Given the description of an element on the screen output the (x, y) to click on. 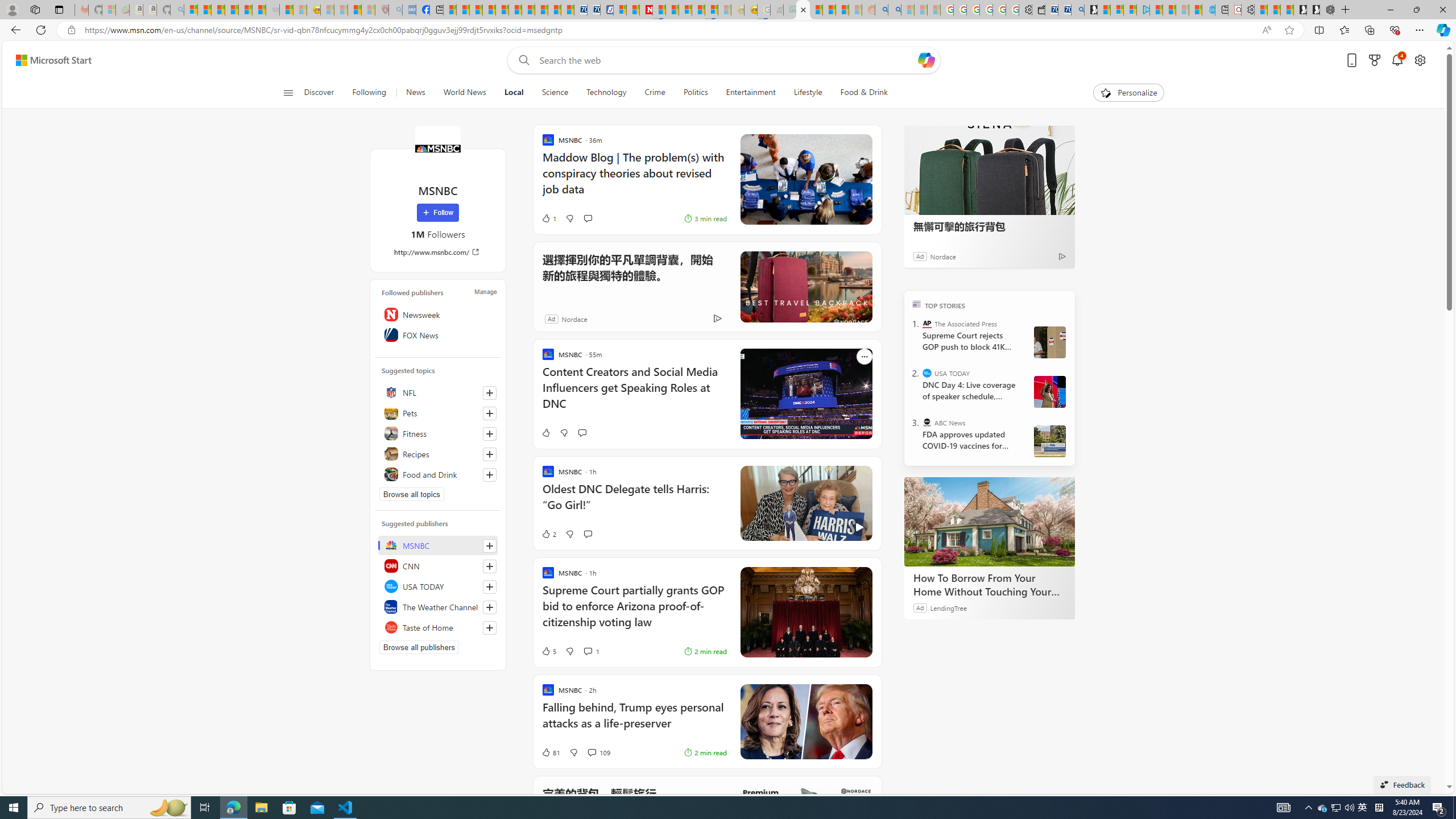
NFL (437, 392)
